Given the description of an element on the screen output the (x, y) to click on. 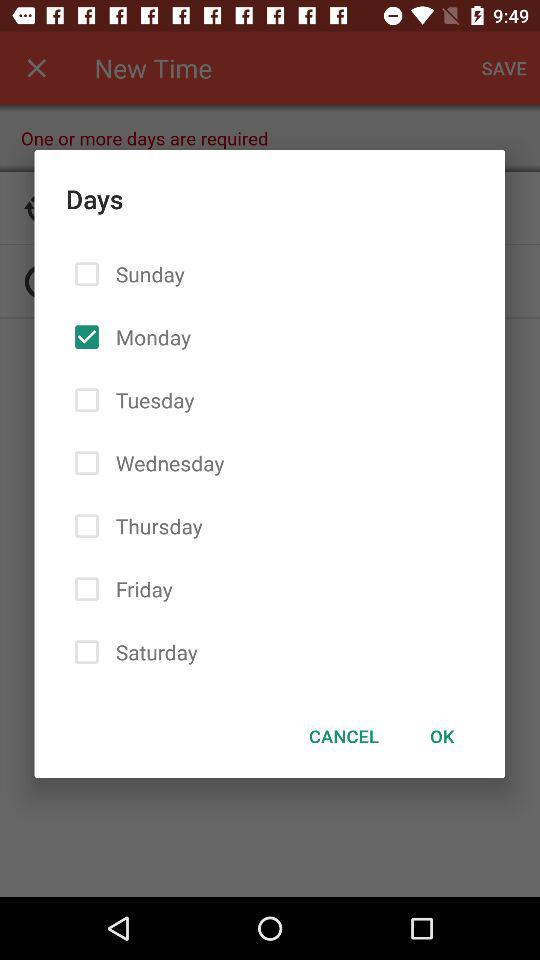
scroll until friday icon (140, 588)
